Given the description of an element on the screen output the (x, y) to click on. 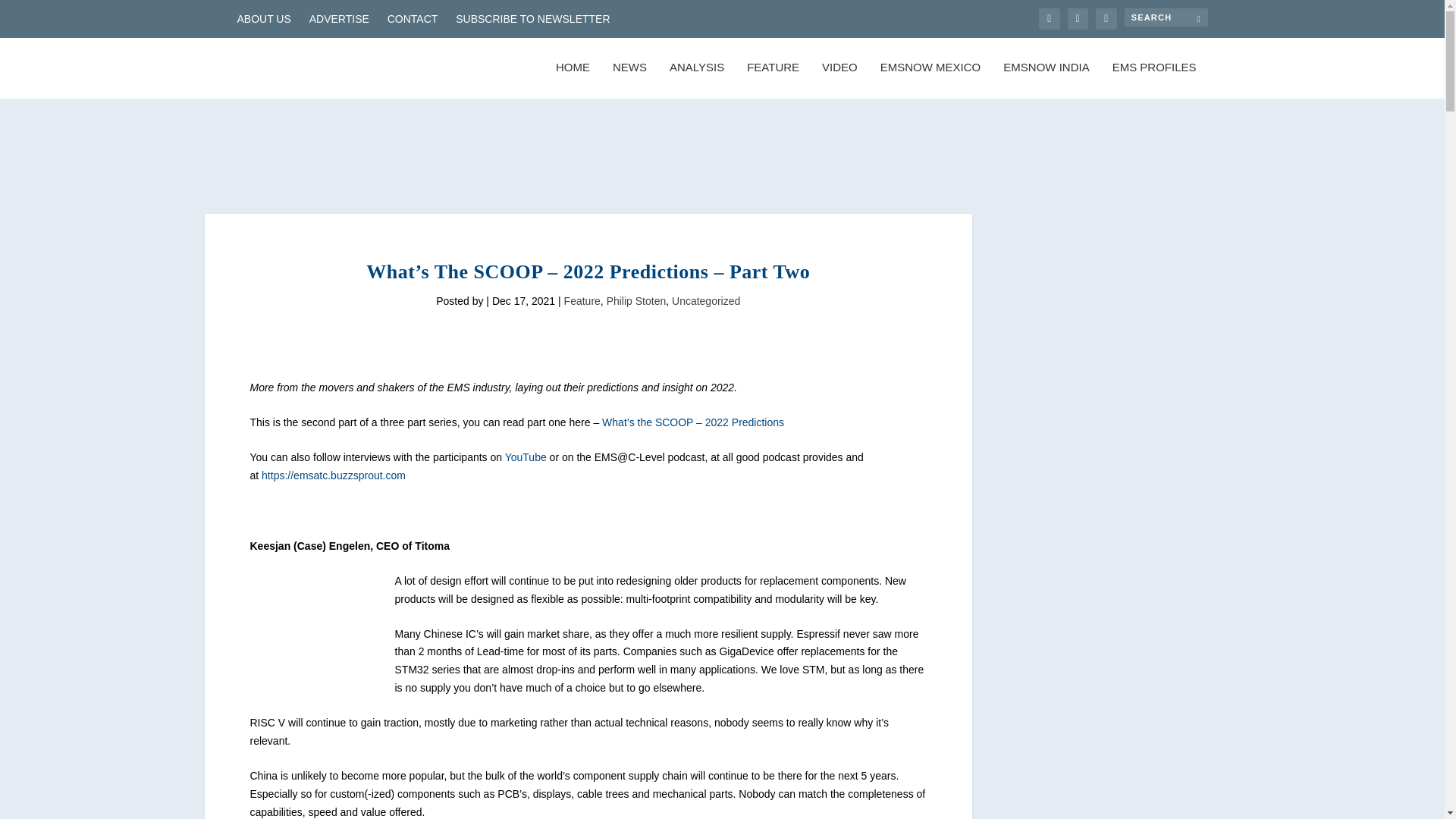
EMSNOW MEXICO (930, 79)
Search for: (1165, 17)
CaseEngelen (317, 638)
YouTube (526, 457)
ABOUT US (262, 18)
SUBSCRIBE TO NEWSLETTER (532, 18)
ANALYSIS (696, 79)
VIDEO (839, 79)
EMS PROFILES (1154, 79)
FEATURE (772, 79)
